Given the description of an element on the screen output the (x, y) to click on. 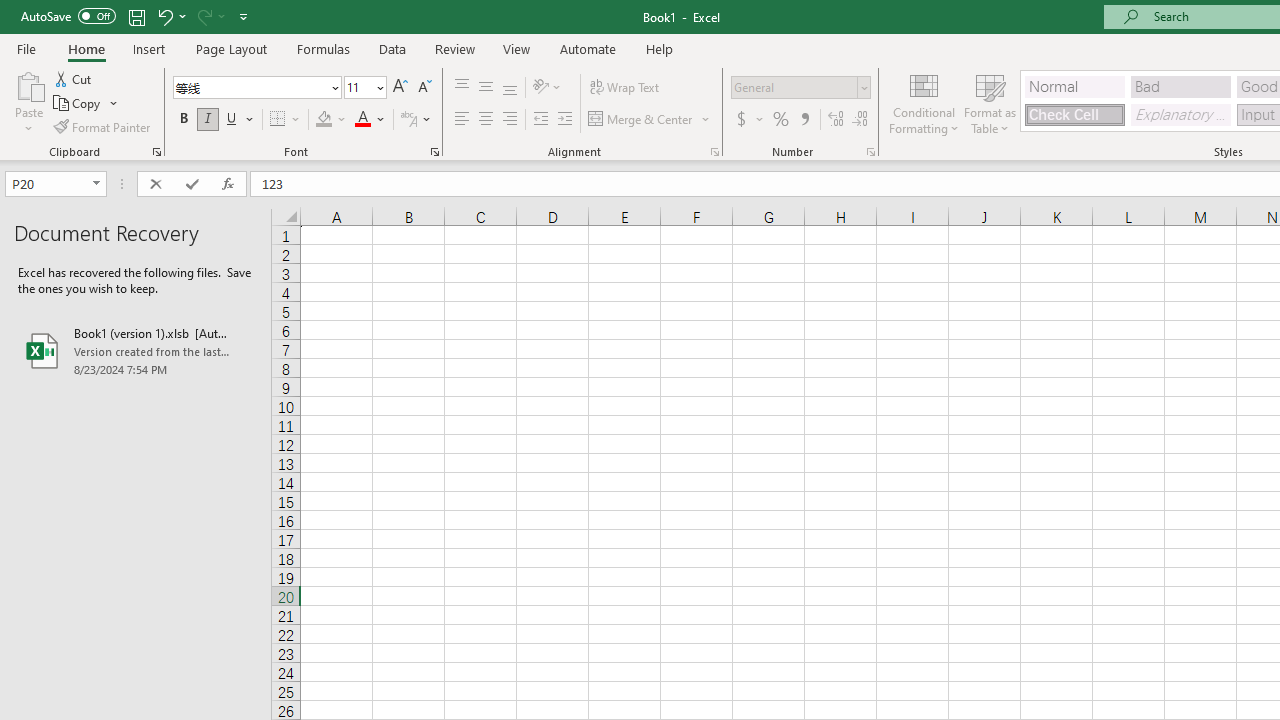
Percent Style (781, 119)
Format Cell Font (434, 151)
Normal (1074, 86)
Show Phonetic Field (416, 119)
System (10, 11)
Insert (149, 48)
Bold (183, 119)
Quick Access Toolbar (136, 16)
Page Layout (230, 48)
Italic (207, 119)
Show Phonetic Field (408, 119)
Font Size (365, 87)
Merge & Center (649, 119)
Fill Color RGB(255, 255, 0) (324, 119)
Format Painter (103, 126)
